Given the description of an element on the screen output the (x, y) to click on. 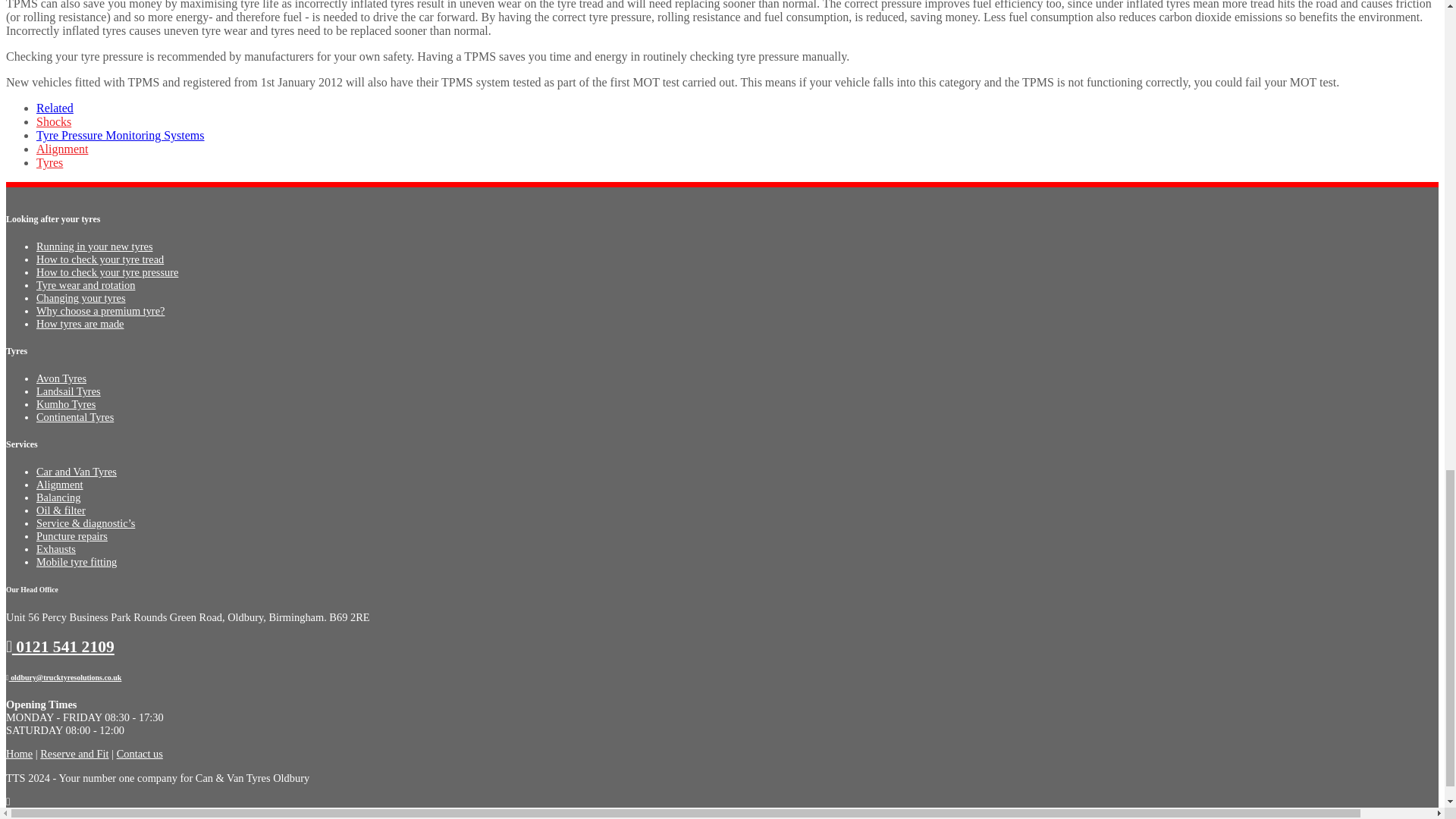
Puncture repairs Oldbury (71, 535)
Alignment Oldbury (59, 484)
Contact TTS Tyres (139, 753)
Reserve Tyres Online (73, 753)
Mobile tyre fitting Oldbury (76, 562)
TTS Tyres (18, 753)
Avon Tyres Oldbury (60, 378)
Balancing Oldbury (58, 497)
Shocks (53, 121)
Continental Tyres Oldbury (74, 417)
Mobile tyre fitting Oldbury (76, 471)
Landsail Tyres Oldbury (68, 390)
Tyres Oldbury (60, 647)
Tyre Pressure Monitoring Systems (120, 134)
ExhaustsOldbury (55, 548)
